Given the description of an element on the screen output the (x, y) to click on. 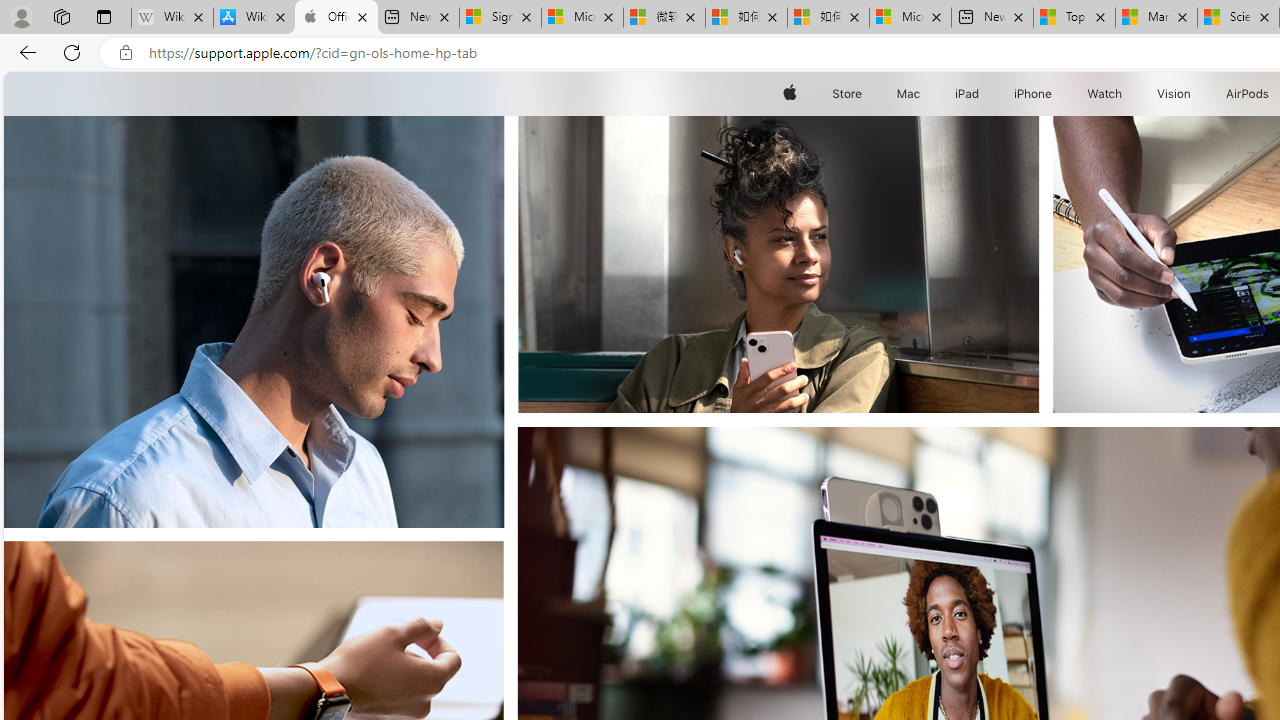
Vision (1174, 93)
Apple (789, 93)
iPhone (1033, 93)
Mac menu (922, 93)
iPhone menu (1055, 93)
iPad (965, 93)
Store (846, 93)
